Given the description of an element on the screen output the (x, y) to click on. 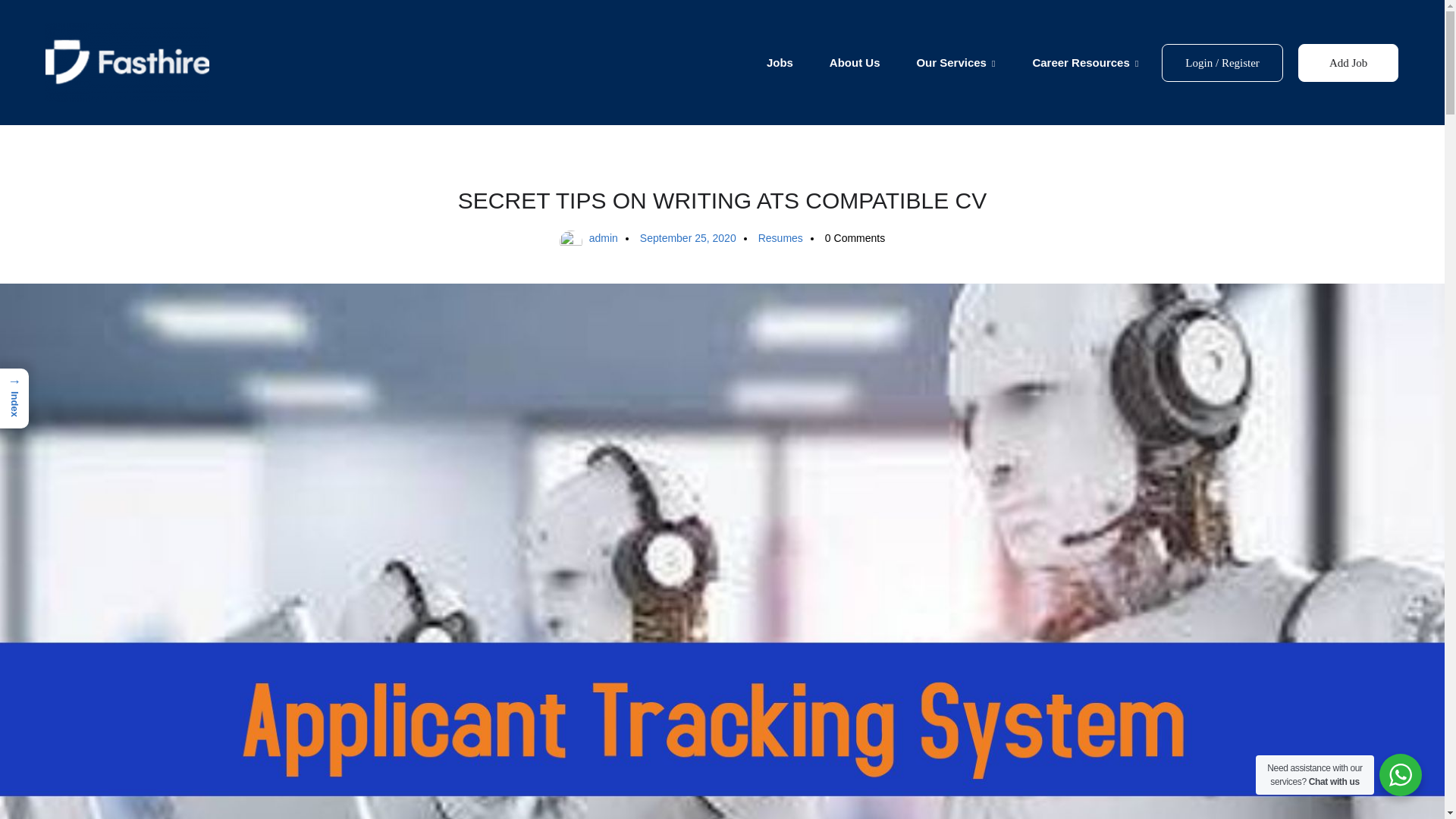
About Us (854, 62)
Career Resources (1085, 62)
Our Services (955, 62)
